Given the description of an element on the screen output the (x, y) to click on. 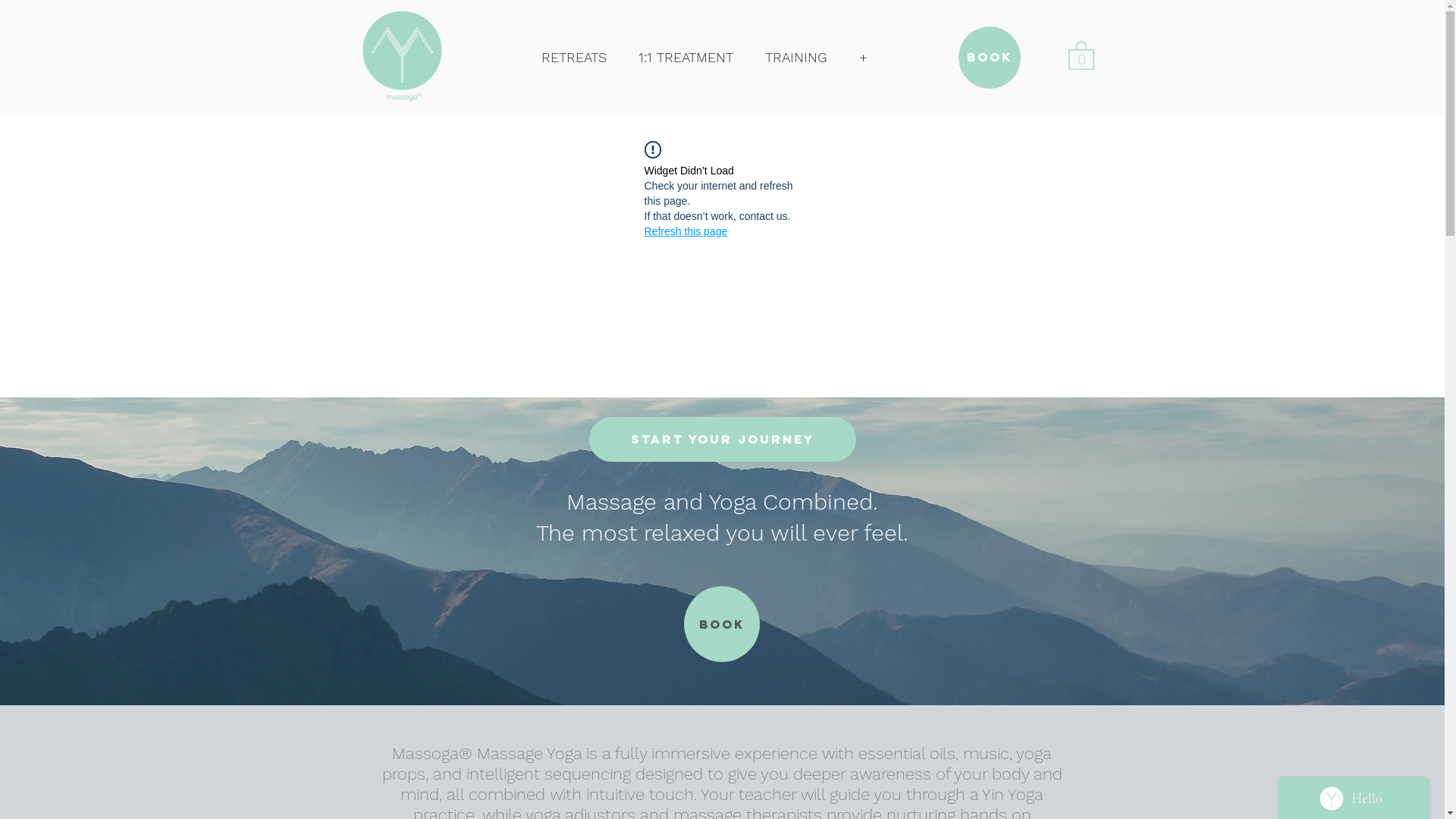
Refresh this page Element type: text (686, 230)
Embedded Content Element type: hover (704, 65)
book Element type: text (989, 57)
START YOUR JOURNEY Element type: text (721, 439)
0 Element type: text (1080, 54)
book Element type: text (721, 624)
TRAINING Element type: text (796, 57)
